Given the description of an element on the screen output the (x, y) to click on. 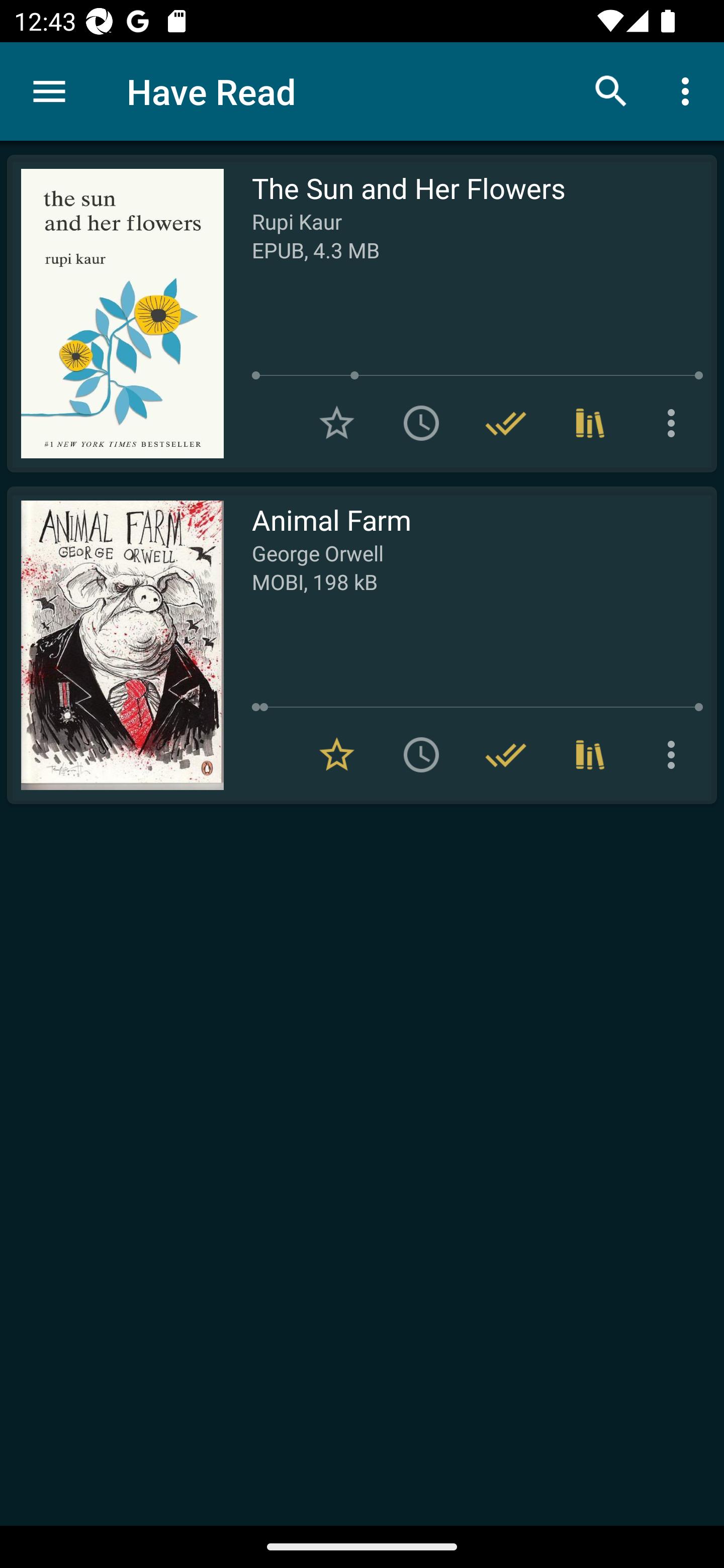
Menu (49, 91)
Search books & documents (611, 90)
More options (688, 90)
Read The Sun and Her Flowers (115, 313)
Add to Favorites (336, 423)
Add to To read (421, 423)
Remove from Have read (505, 423)
Collections (1) (590, 423)
More options (674, 423)
Read Animal Farm (115, 645)
Remove from Favorites (336, 753)
Add to To read (421, 753)
Remove from Have read (505, 753)
Collections (1) (590, 753)
More options (674, 753)
